Given the description of an element on the screen output the (x, y) to click on. 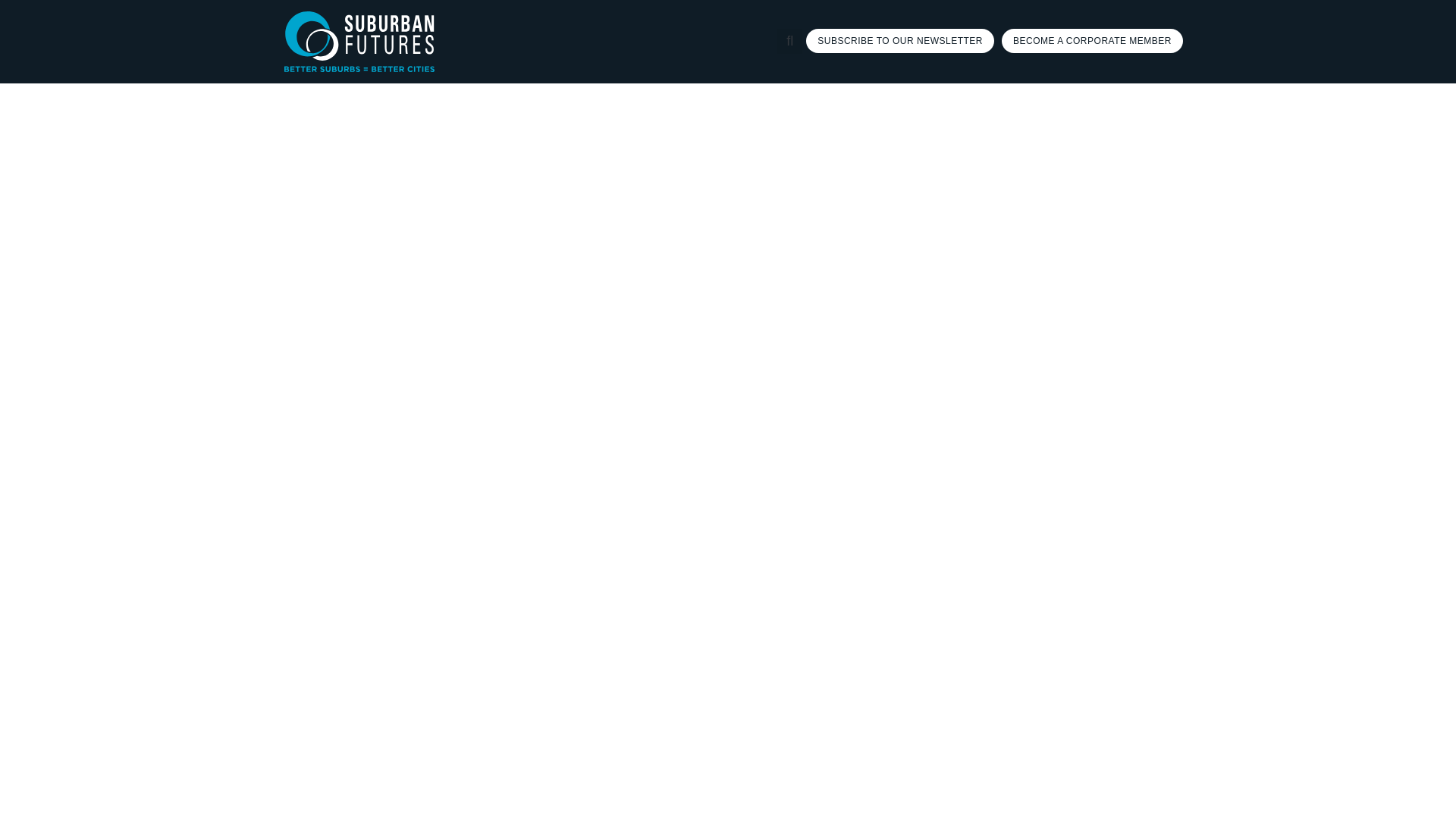
SUBSCRIBE TO OUR NEWSLETTER (900, 40)
BECOME A CORPORATE MEMBER (1091, 40)
